Given the description of an element on the screen output the (x, y) to click on. 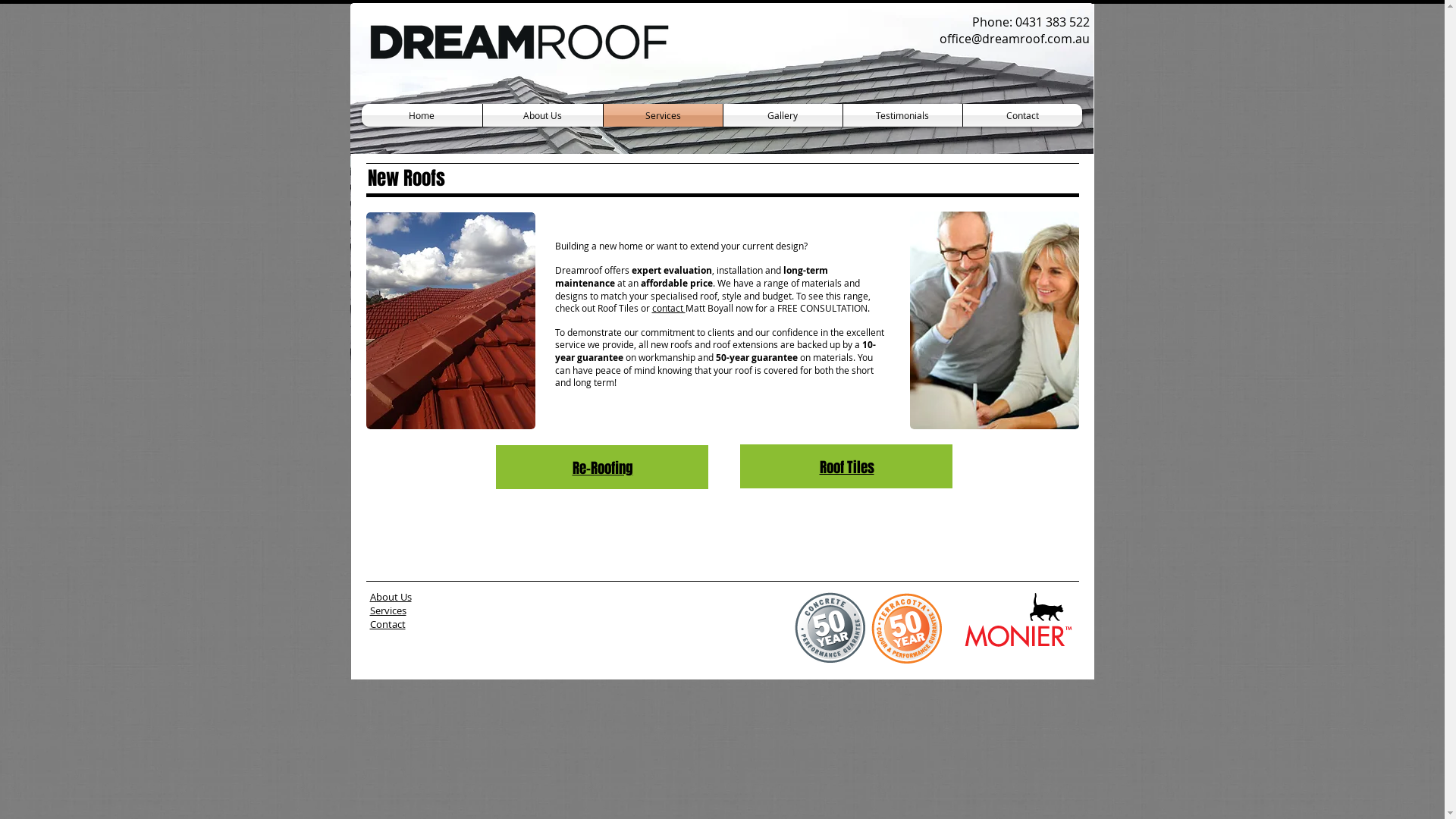
Contact Element type: text (1022, 114)
Home Element type: text (420, 114)
Contact Element type: text (387, 623)
Roof Tiles Element type: text (846, 466)
About Us Element type: text (542, 114)
contact Element type: text (668, 307)
Services Element type: text (662, 114)
Services Element type: text (388, 610)
Background.jpg Element type: hover (449, 320)
Gallery Element type: text (782, 114)
office@dreamroof.com.au Element type: text (1013, 38)
About Us Element type: text (390, 596)
Testimonials Element type: text (902, 114)
2014-07-30 16.37.08.jpg Element type: hover (721, 200)
Re-Roofing Element type: text (601, 466)
DREAMROOF TITLE.png Element type: hover (519, 43)
